Given the description of an element on the screen output the (x, y) to click on. 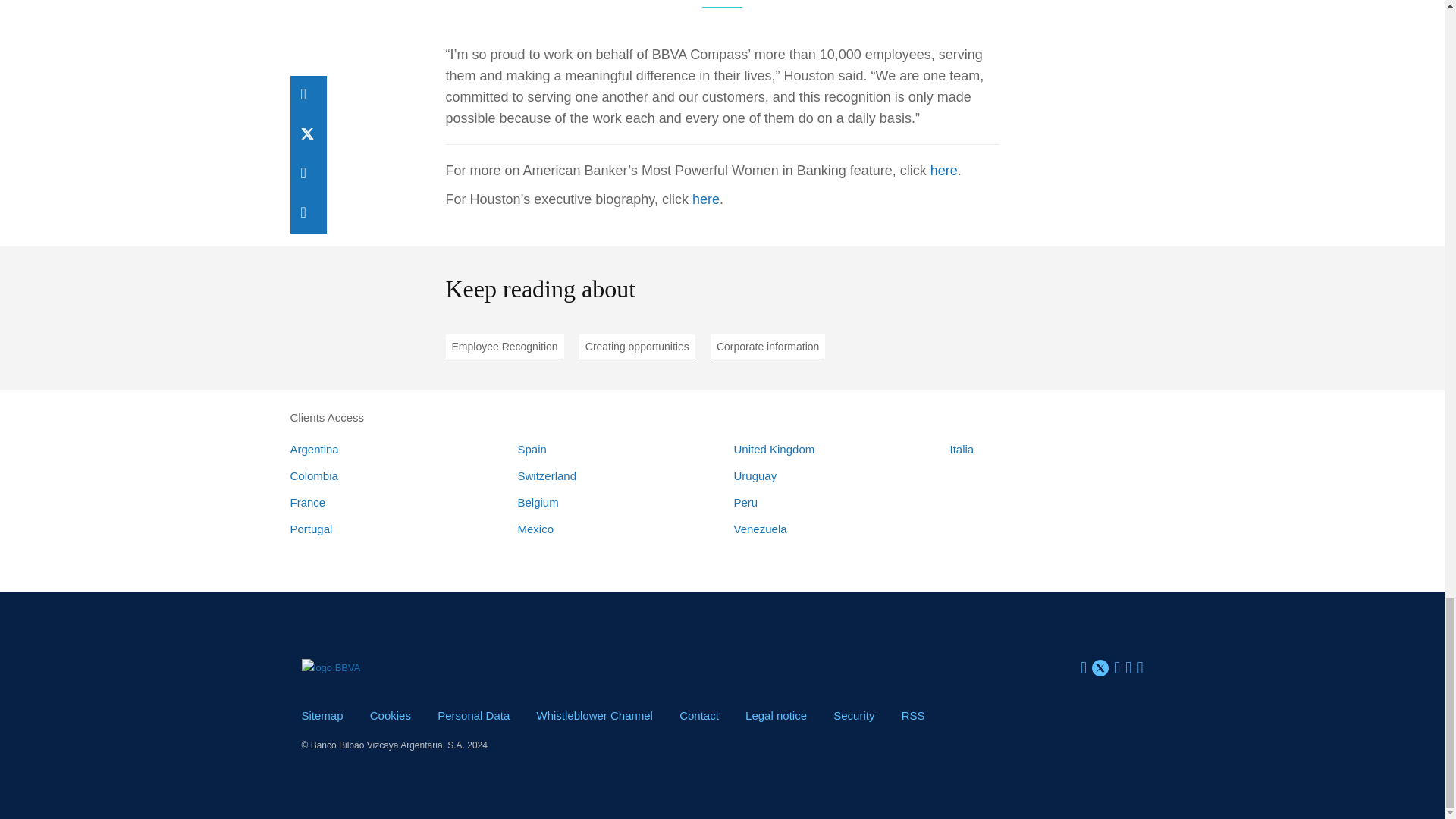
modal (775, 715)
